Given the description of an element on the screen output the (x, y) to click on. 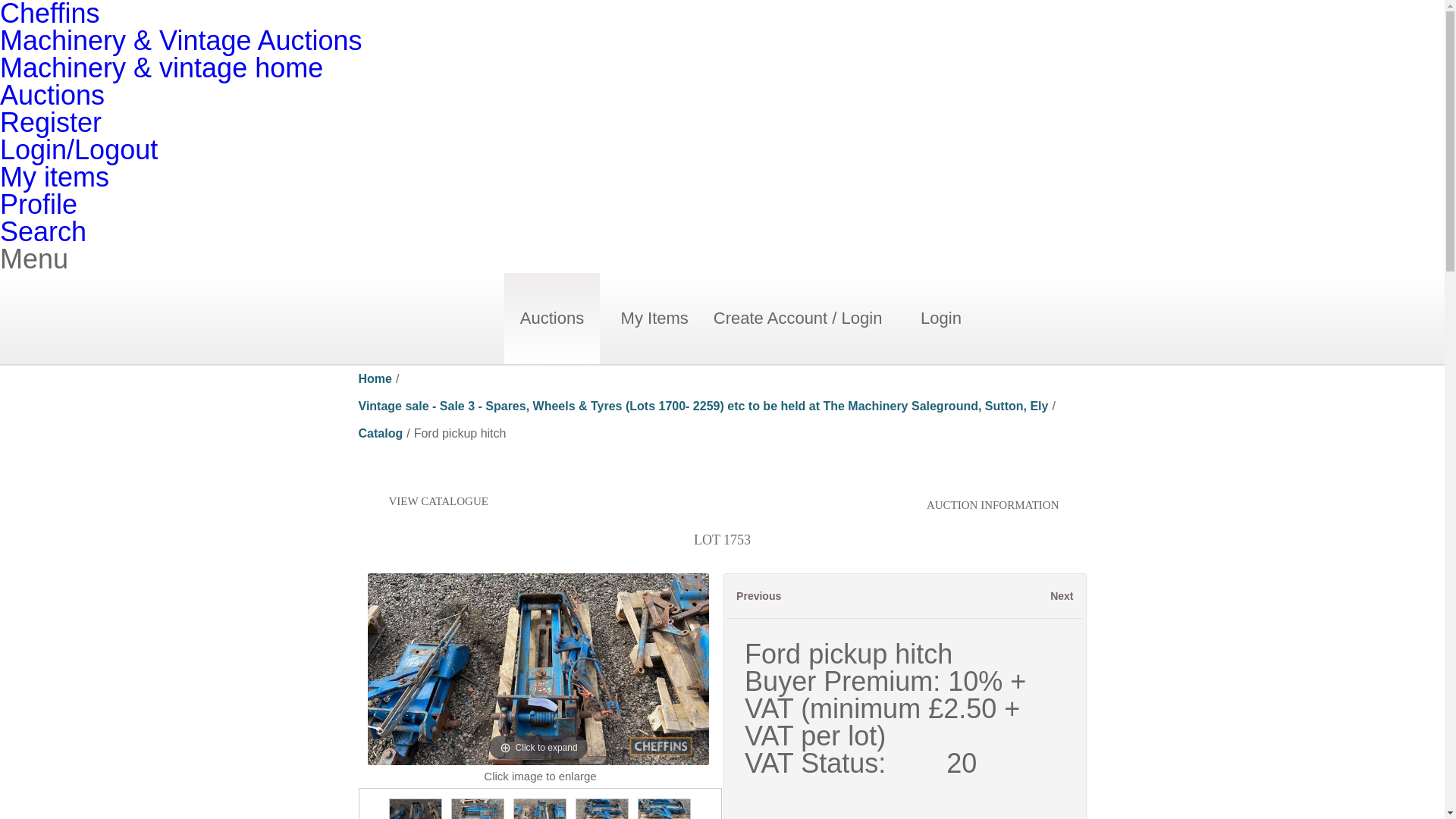
Auctions (551, 317)
Auctions (550, 317)
Next (1061, 595)
Previous (401, 672)
My items (38, 204)
Login (78, 149)
Register (50, 122)
My items (54, 176)
Auctions (52, 94)
VIEW CATALOGUE (422, 501)
My Items (654, 317)
Login (940, 317)
Register (50, 122)
Profile (38, 204)
Next (681, 672)
